Given the description of an element on the screen output the (x, y) to click on. 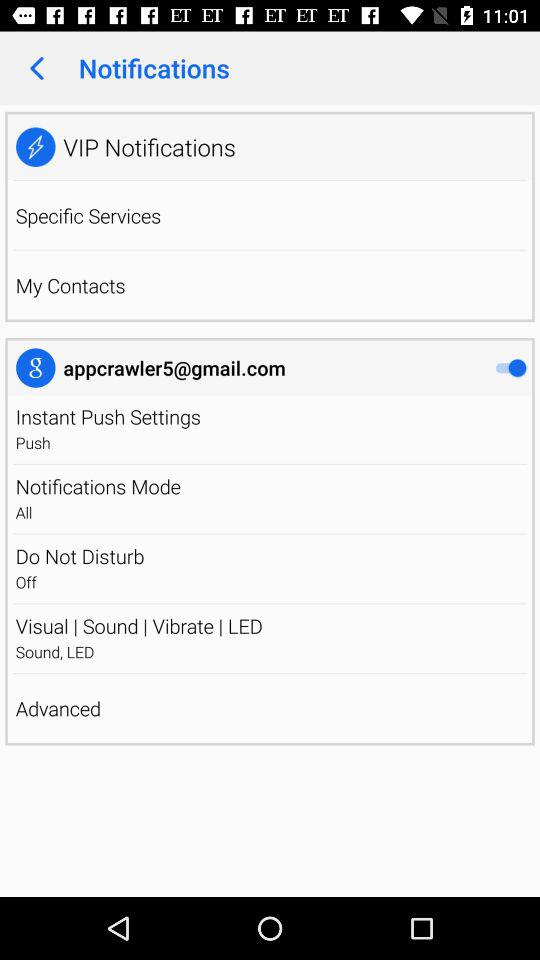
flip until advanced icon (269, 708)
